Given the description of an element on the screen output the (x, y) to click on. 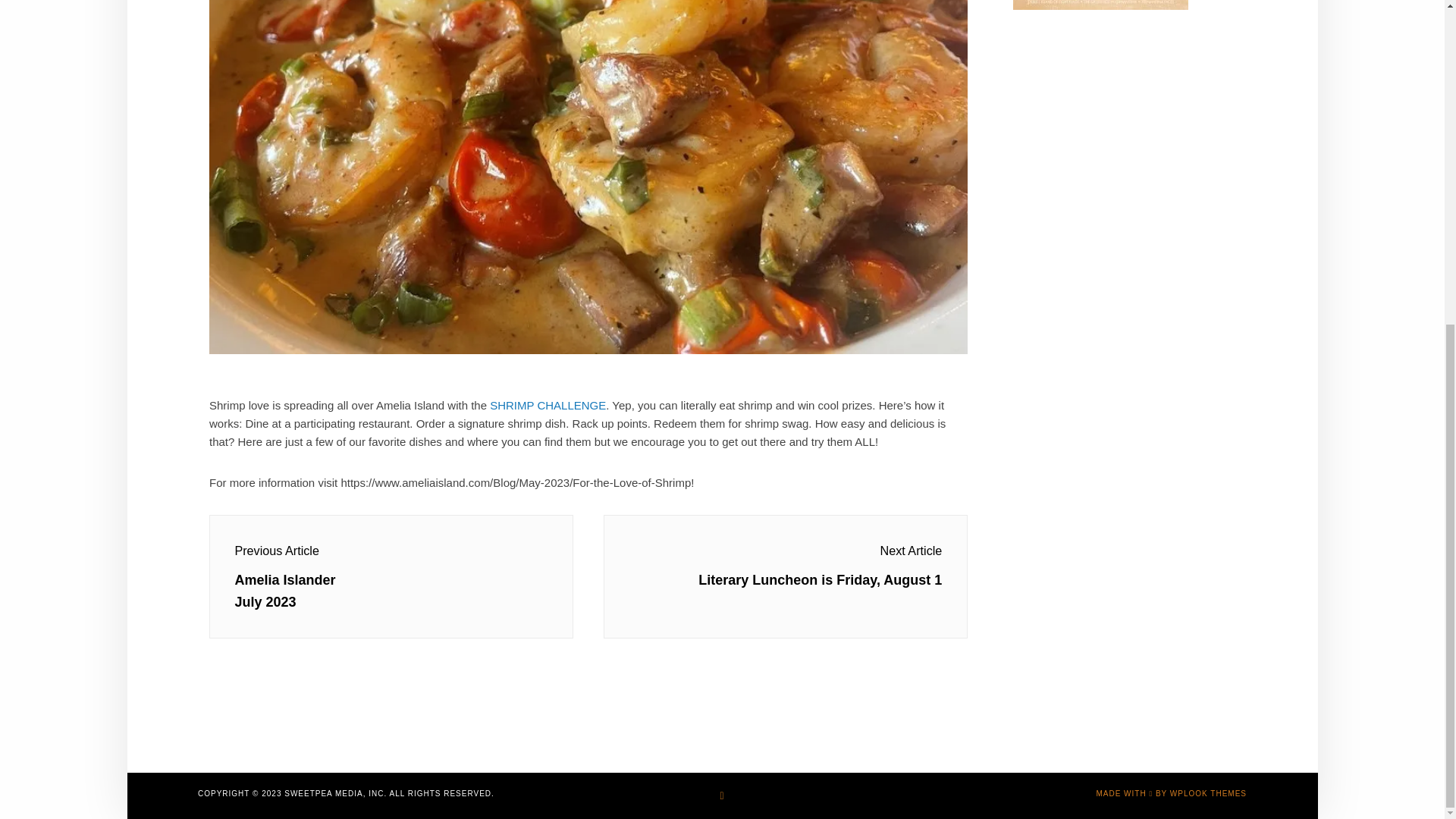
SHRIMP CHALLENGE (547, 404)
MADE WITH BY WPLOOK THEMES (1171, 793)
Read the Current Issue (1100, 4)
